Given the description of an element on the screen output the (x, y) to click on. 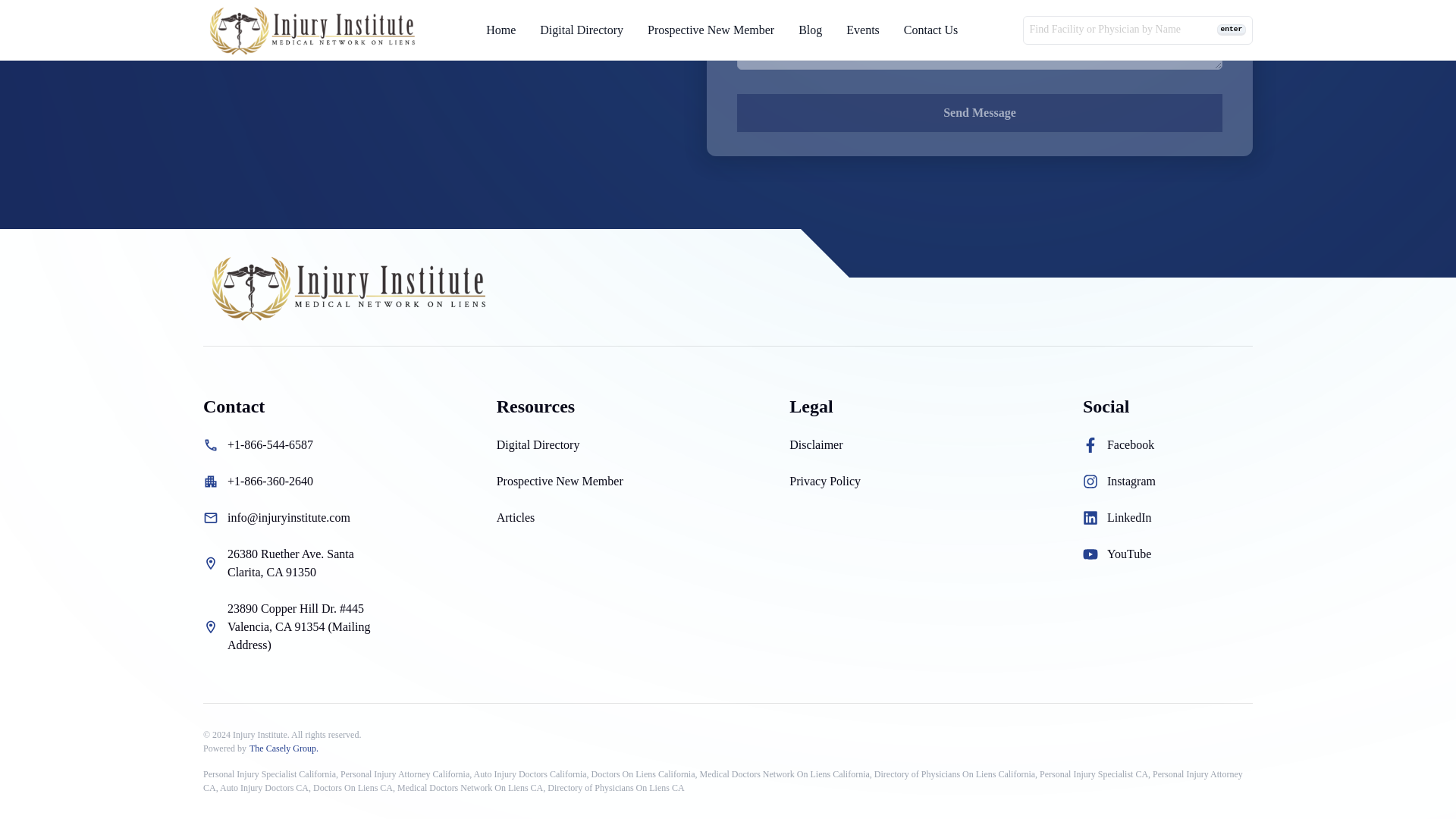
26380 Ruether Ave. Santa Clarita, CA 91350 (299, 563)
Instagram (1131, 481)
Articles (515, 517)
The Casely Group. (283, 748)
Privacy Policy (824, 481)
Facebook (1130, 444)
LinkedIn (1128, 517)
Digital Directory (537, 444)
Prospective New Member (559, 481)
YouTube (1128, 554)
Send Message (979, 112)
Disclaimer (816, 444)
